Given the description of an element on the screen output the (x, y) to click on. 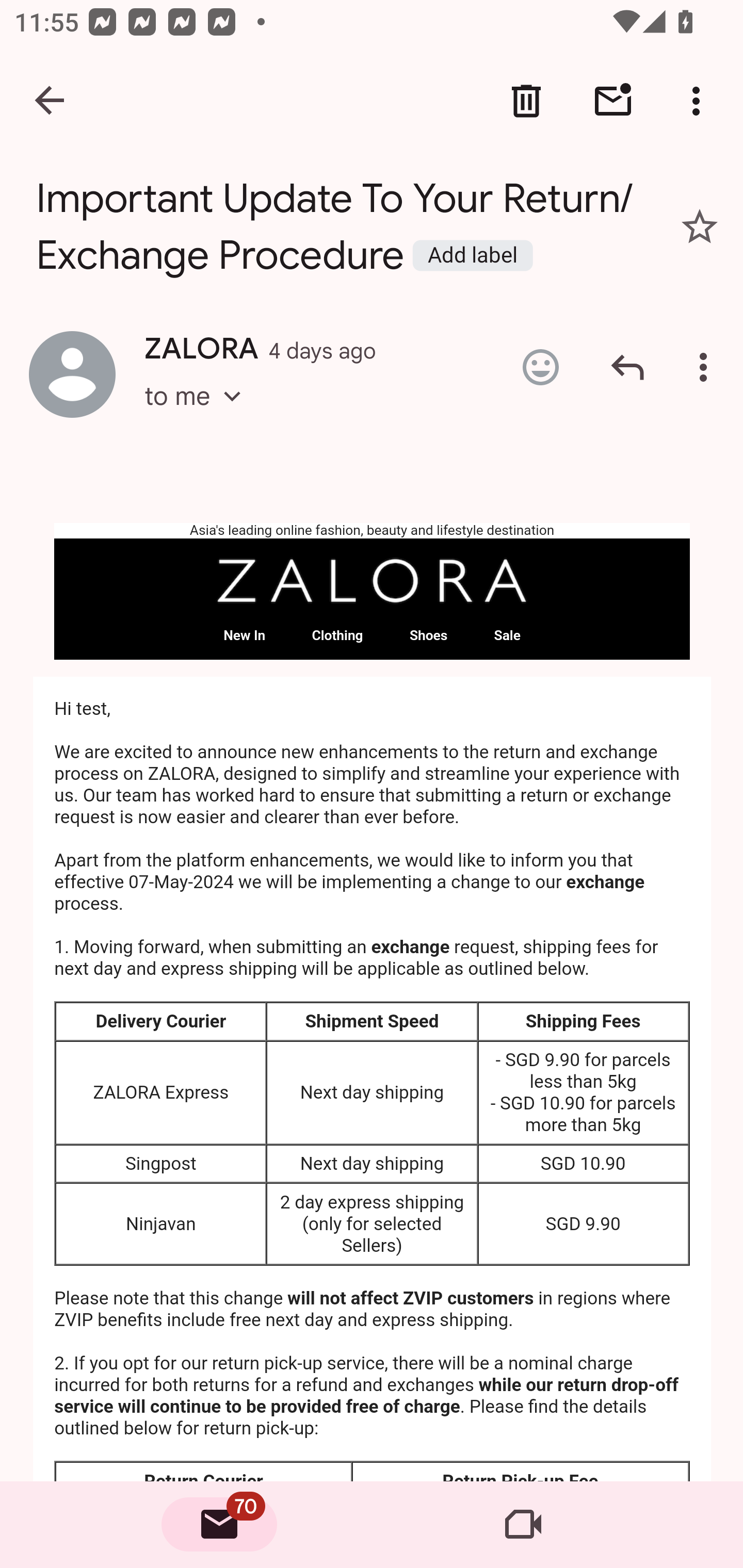
Navigate up (50, 101)
Delete (525, 101)
Mark unread (612, 101)
More options (699, 101)
Add star (699, 226)
Add emoji reaction (540, 367)
Reply (626, 367)
More options (706, 367)
Show contact information for ZALORA (71, 373)
to me (199, 414)
Meet (523, 1524)
